Given the description of an element on the screen output the (x, y) to click on. 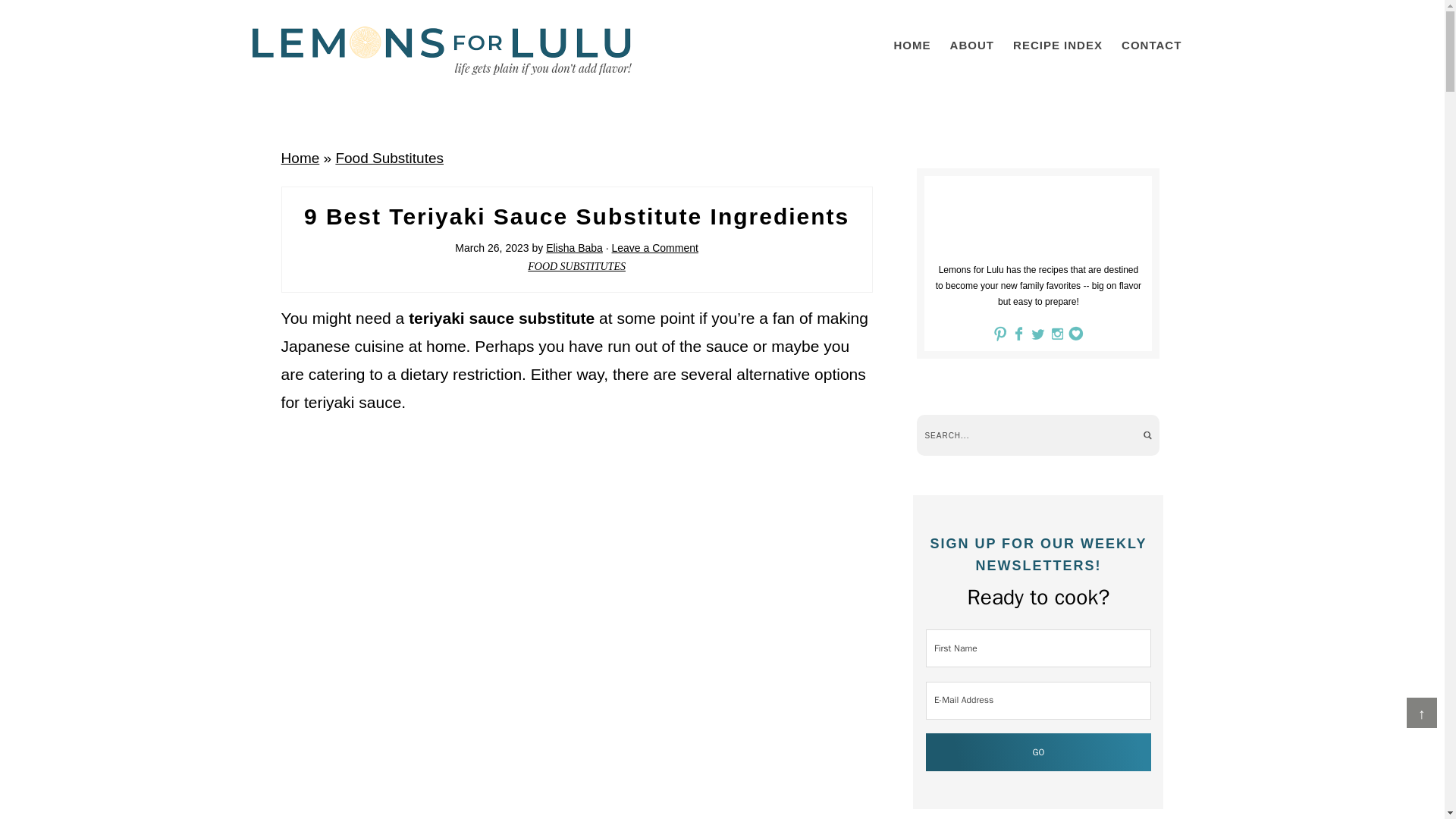
RECIPE INDEX (1057, 44)
Home (300, 157)
Food Substitutes (389, 157)
Leave a Comment (654, 247)
HOME (911, 44)
CONTACT (1151, 44)
Elisha Baba (574, 247)
ABOUT (971, 44)
Go (1038, 752)
FOOD SUBSTITUTES (576, 266)
LEMONSFORLULU.COM (440, 50)
